Given the description of an element on the screen output the (x, y) to click on. 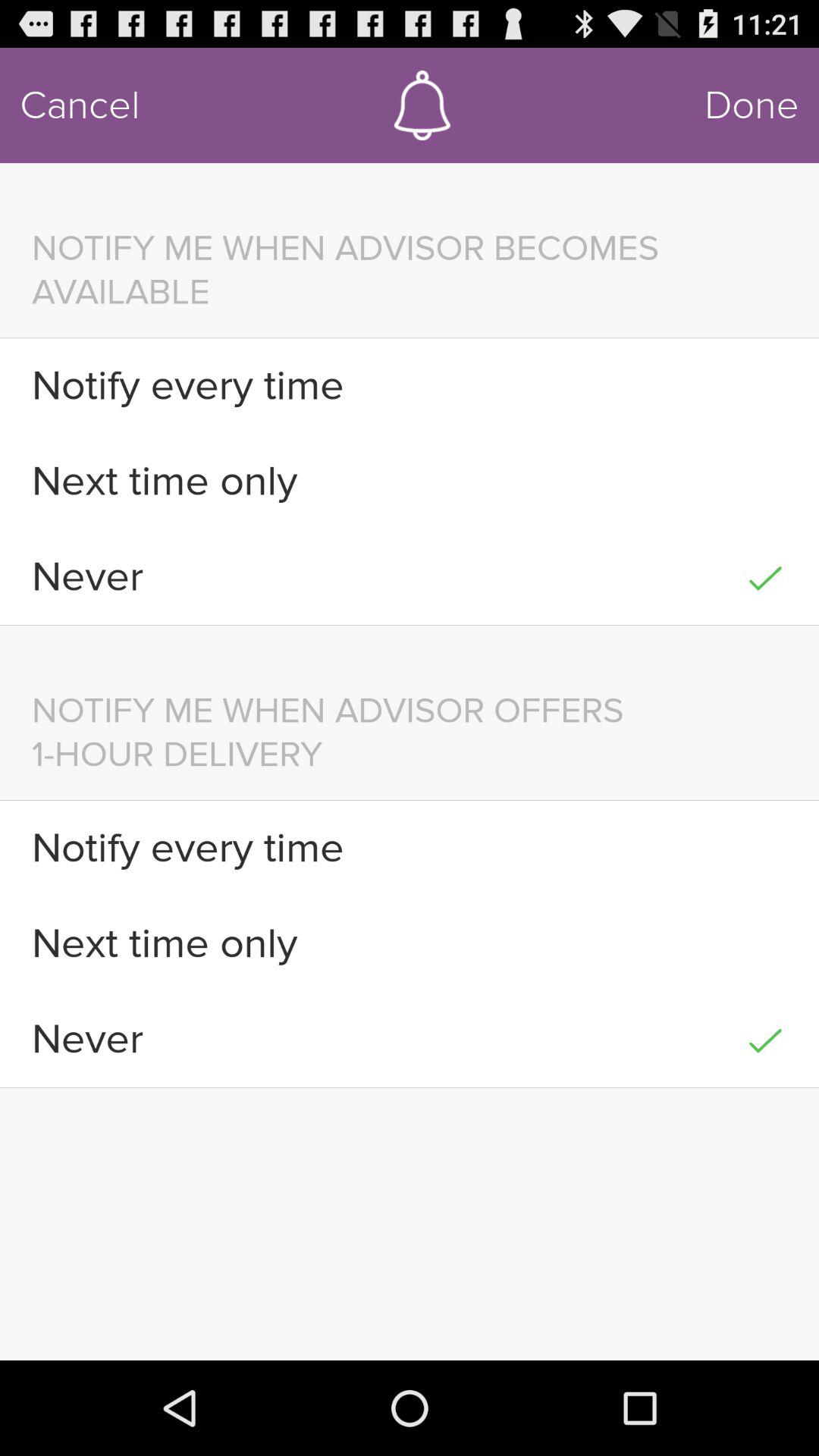
tap icon to the right of the never (765, 1039)
